Given the description of an element on the screen output the (x, y) to click on. 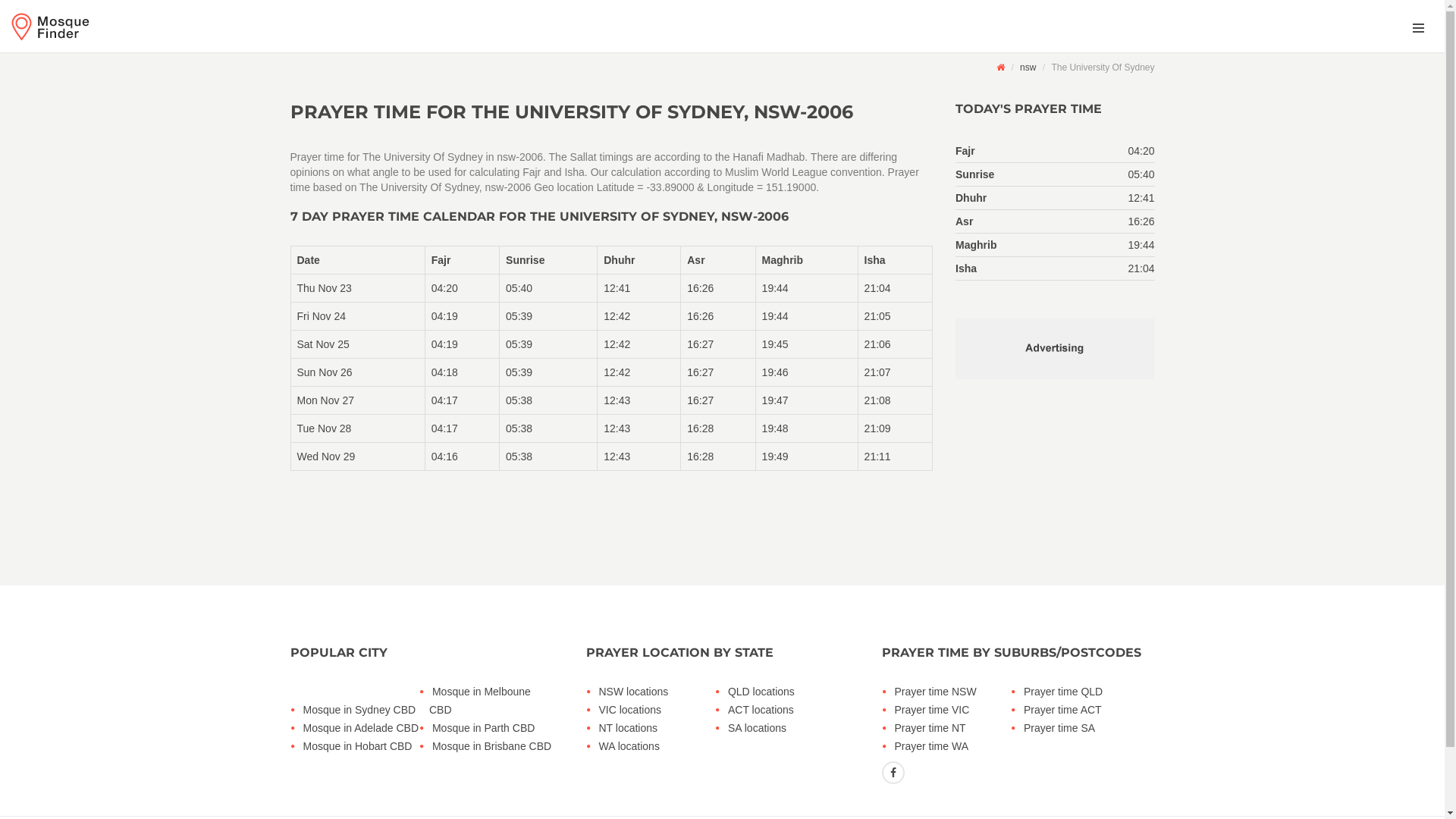
Prayer time ACT Element type: text (1083, 709)
Mosque in Brisbane CBD Element type: text (492, 746)
Mosque in Parth CBD Element type: text (492, 727)
NT locations Element type: text (659, 727)
Prayer time SA Element type: text (1083, 727)
Prayer time NT Element type: text (954, 727)
QLD locations Element type: text (787, 691)
Mosque in Hobart CBD Element type: text (363, 746)
Mosque in Sydney CBD Element type: text (363, 709)
WA locations Element type: text (659, 746)
Prayer time NSW Element type: text (954, 691)
Prayer time QLD Element type: text (1083, 691)
VIC locations Element type: text (659, 709)
NSW locations Element type: text (659, 691)
Mosque in Melboune CBD Element type: text (492, 700)
nsw Element type: text (1027, 67)
Mosque in Adelade CBD Element type: text (363, 727)
Prayer time WA Element type: text (954, 746)
ACT locations Element type: text (787, 709)
Prayer time VIC Element type: text (954, 709)
SA locations Element type: text (787, 727)
